Given the description of an element on the screen output the (x, y) to click on. 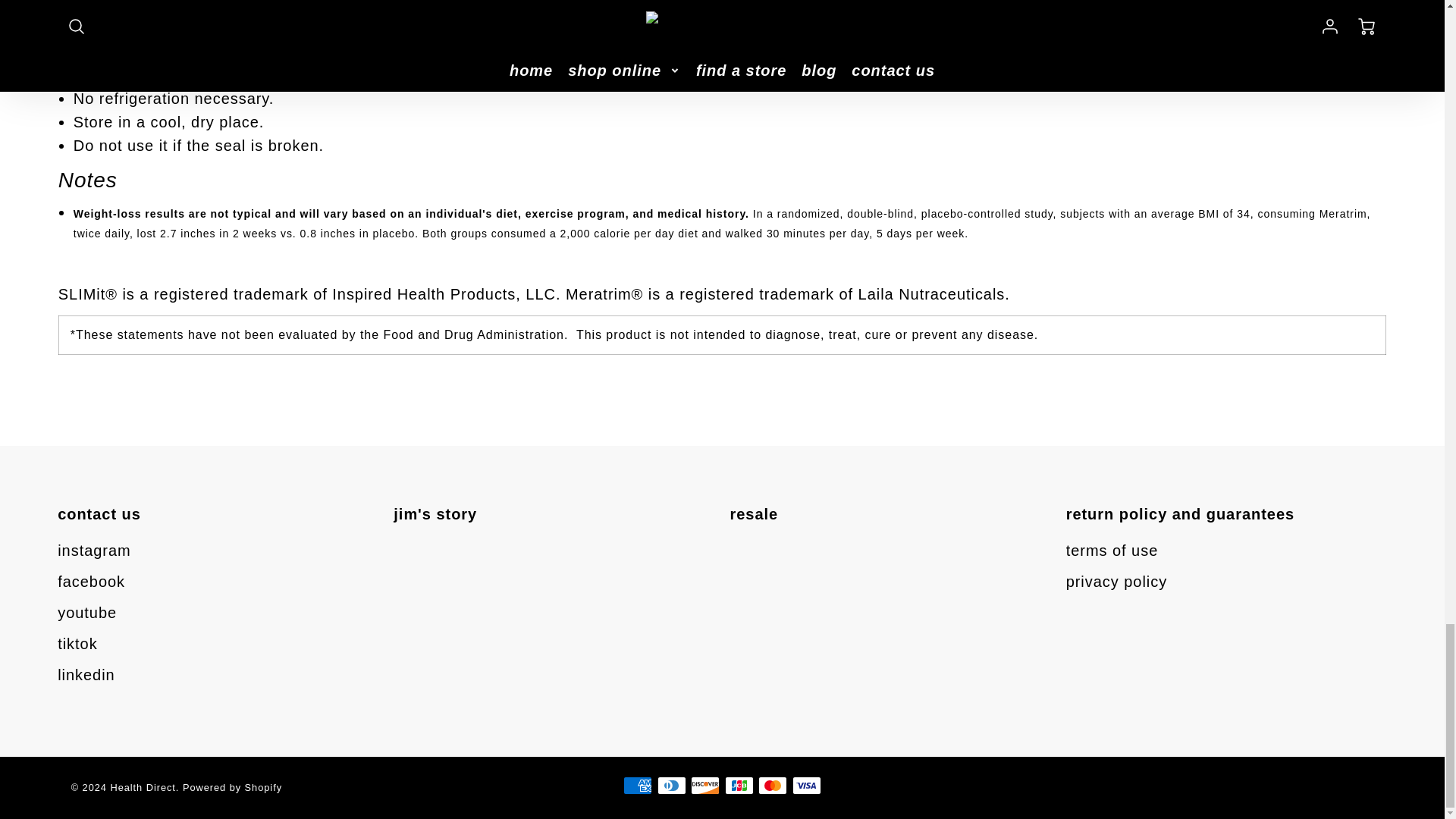
American Express (637, 785)
Mastercard (772, 785)
Visa (806, 785)
Discover (704, 785)
Diners Club (671, 785)
JCB (739, 785)
